Given the description of an element on the screen output the (x, y) to click on. 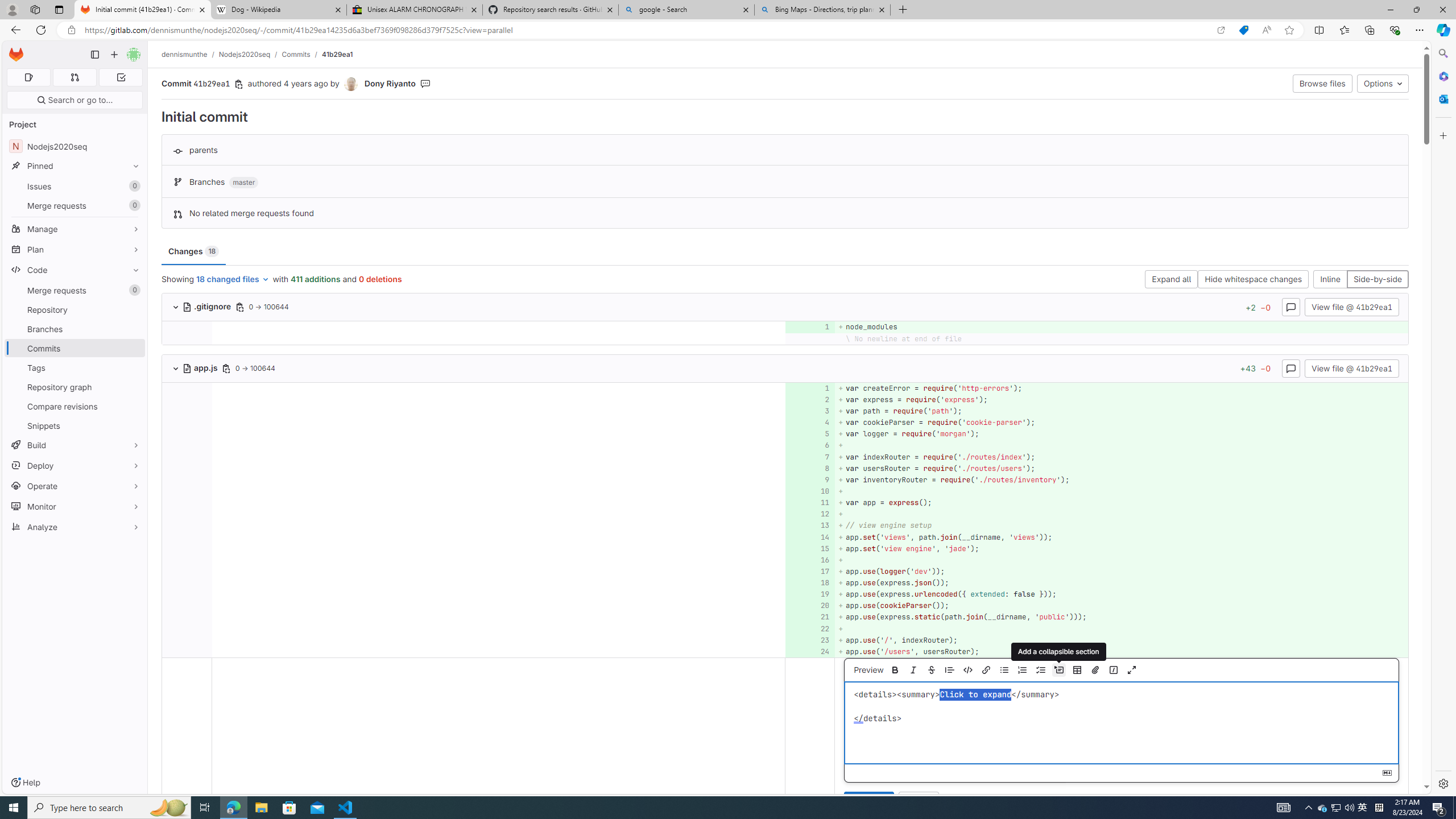
Class: notes_line old (186, 737)
Homepage (16, 54)
+ var cookieParser = require('cookie-parser');  (1120, 422)
+ app.use(cookieParser());  (1120, 605)
Class: s16 chevron-down (175, 368)
Add a comment to this line 11 (809, 503)
+ app.set('view engine', 'jade');  (1120, 548)
Commits/ (301, 53)
24 (808, 651)
2 (808, 399)
google - Search (685, 9)
Browse files (1322, 83)
Repository graph (74, 386)
Analyze (74, 526)
14 (808, 536)
